Given the description of an element on the screen output the (x, y) to click on. 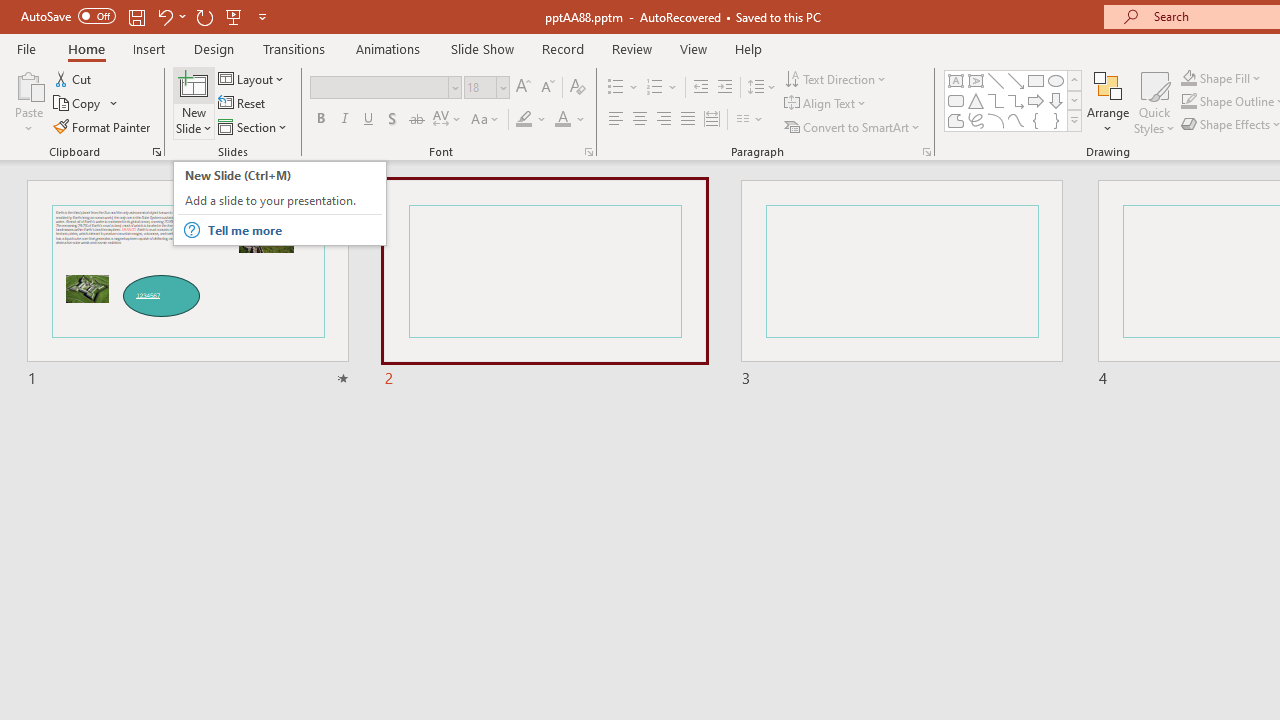
Home (86, 48)
More Options (1232, 78)
System (10, 11)
Connector: Elbow (995, 100)
Text Box (955, 80)
Distributed (712, 119)
Copy (85, 103)
Font Size (480, 87)
Italic (344, 119)
Freeform: Shape (955, 120)
Align Text (826, 103)
Rectangle: Rounded Corners (955, 100)
Clear Formatting (577, 87)
